Given the description of an element on the screen output the (x, y) to click on. 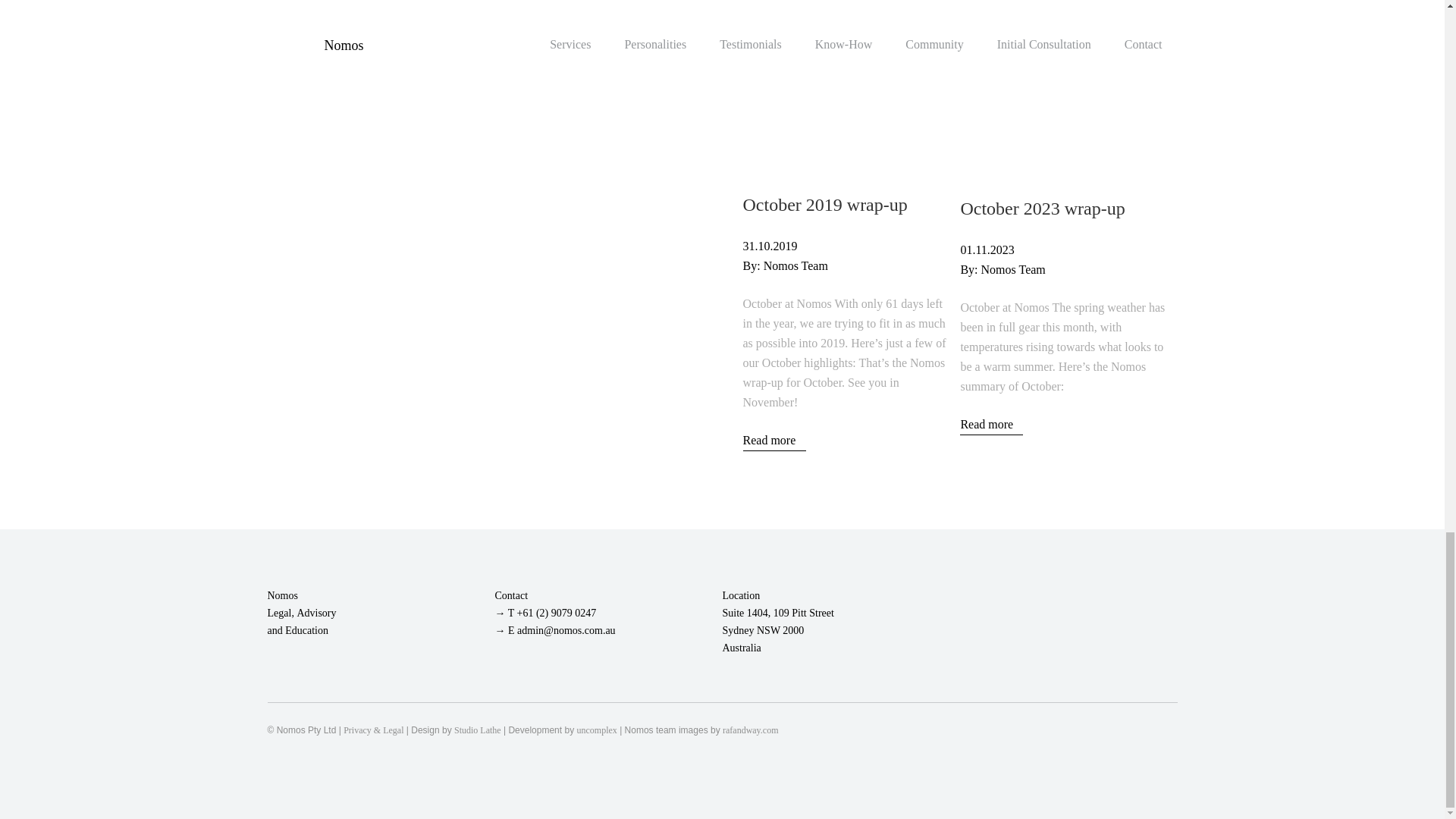
October 2019 wrap-up (847, 71)
October 2023 wrap-up (1041, 208)
October 2019 wrap-up (824, 204)
October 2019 wrap-up (824, 204)
Posts by Nomos Team (1013, 269)
Read more (774, 440)
October 2023 wrap-up (1064, 71)
Nomos Team (795, 265)
Posts by Nomos Team (795, 265)
